Given the description of an element on the screen output the (x, y) to click on. 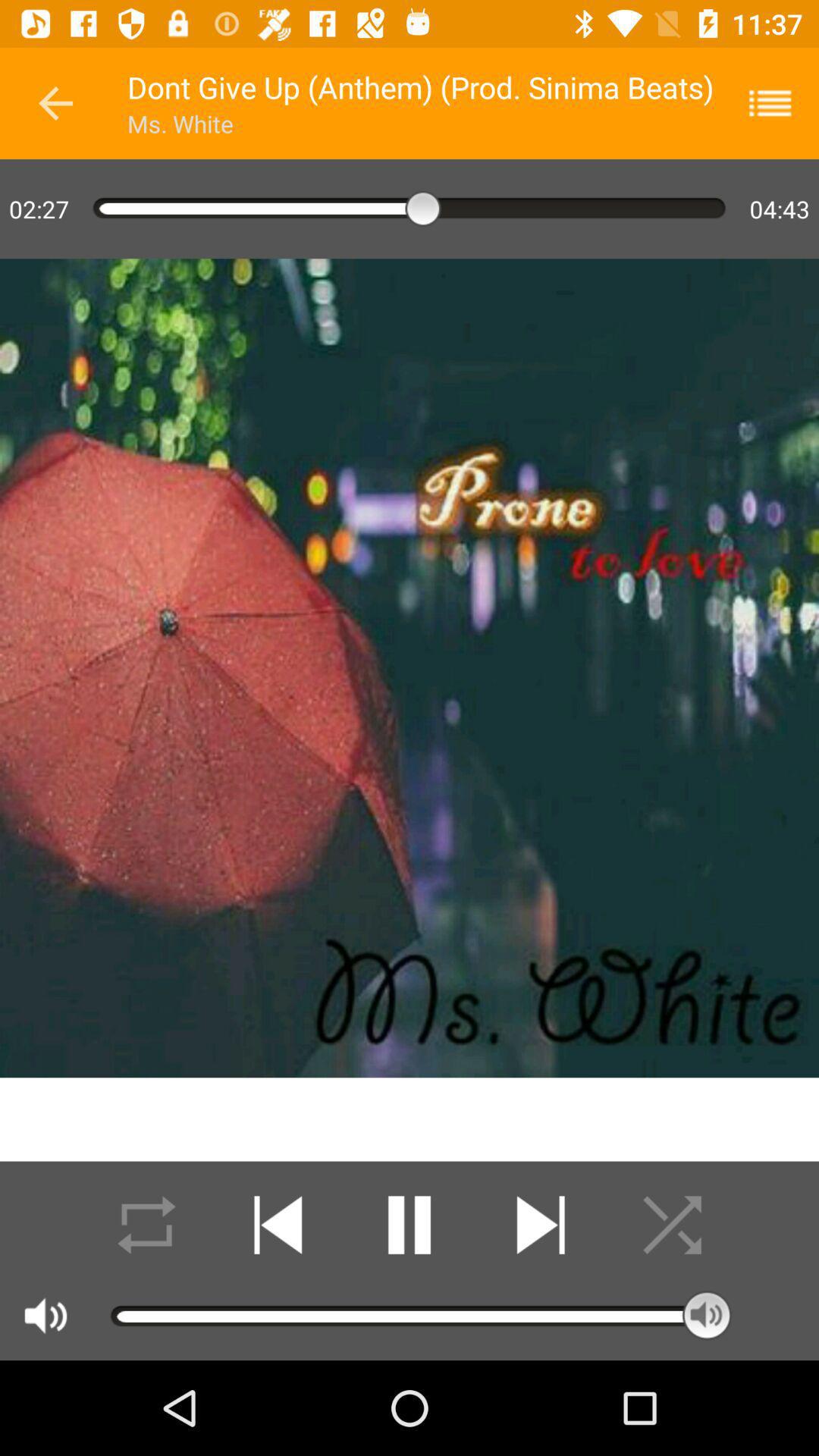
go to previous (55, 103)
